Given the description of an element on the screen output the (x, y) to click on. 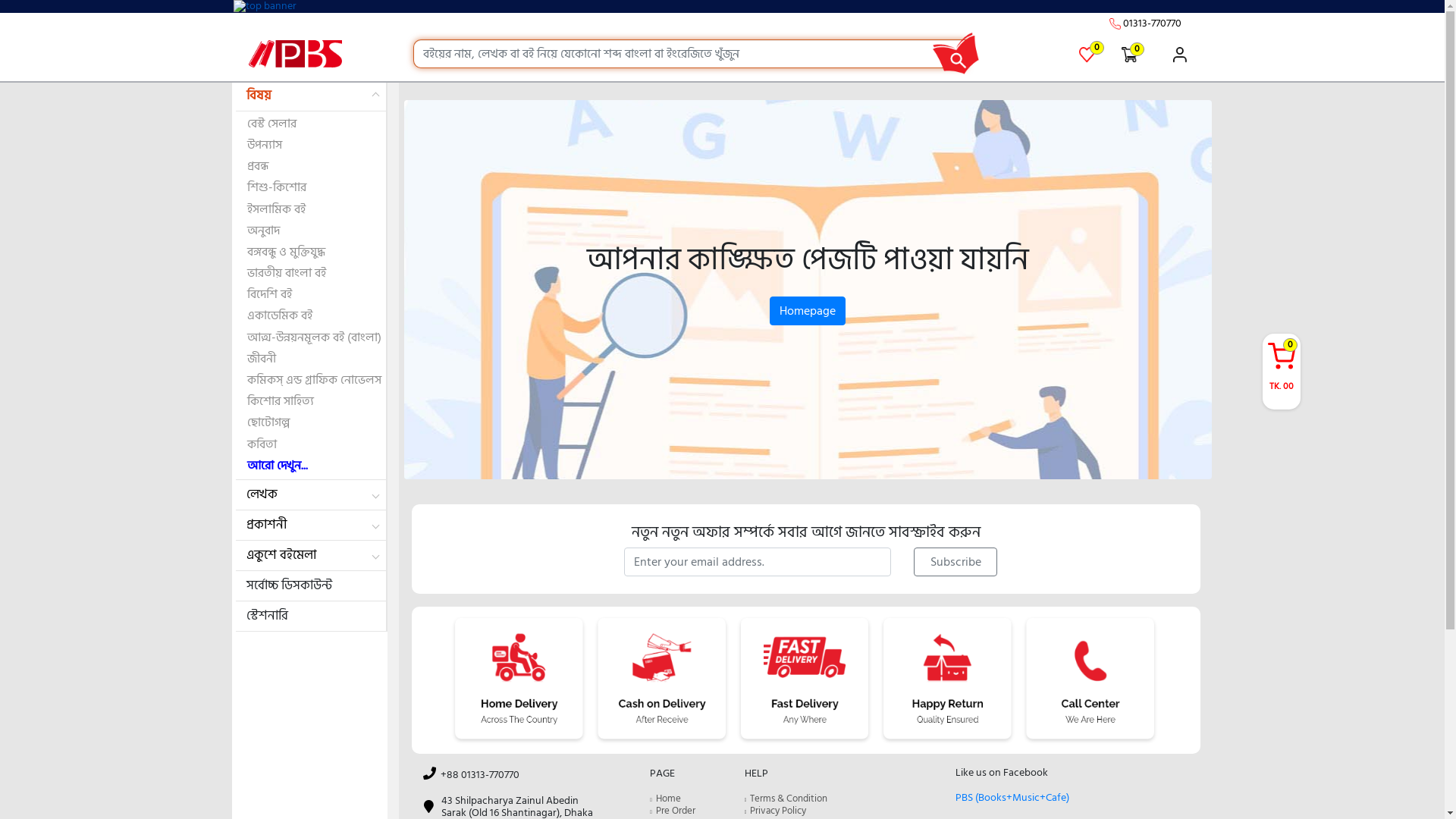
Terms & Condition Element type: text (788, 798)
Wishlist Element type: hover (1087, 53)
Sign in Element type: hover (1173, 53)
01313-770770 Element type: text (1151, 22)
Homepage Element type: text (807, 310)
0
TK. 00 Element type: text (1280, 368)
0 Element type: text (1096, 47)
Home Element type: text (667, 798)
PBS (Books+Music+Cafe) Element type: text (1012, 797)
Subscribe Element type: text (955, 561)
0 Element type: text (1129, 53)
